Given the description of an element on the screen output the (x, y) to click on. 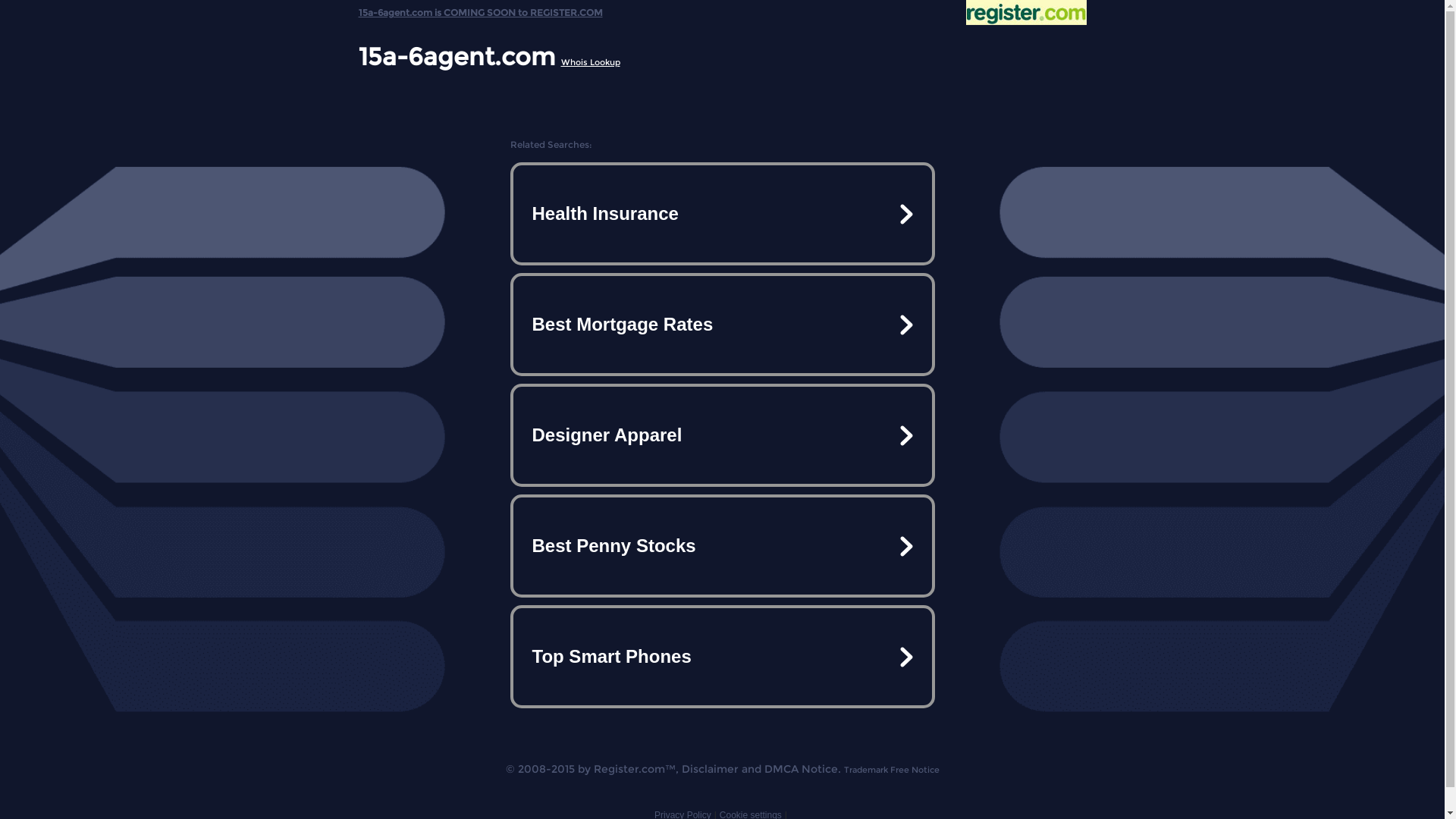
Best Penny Stocks Element type: text (721, 545)
15a-6agent.com is COMING SOON to REGISTER.COM Element type: text (479, 9)
15a-6agent.com Element type: text (455, 56)
Best Mortgage Rates Element type: text (721, 324)
Health Insurance Element type: text (721, 213)
Top Smart Phones Element type: text (721, 656)
Trademark Free Notice Element type: text (890, 769)
Whois Lookup Element type: text (590, 61)
Designer Apparel Element type: text (721, 434)
